Given the description of an element on the screen output the (x, y) to click on. 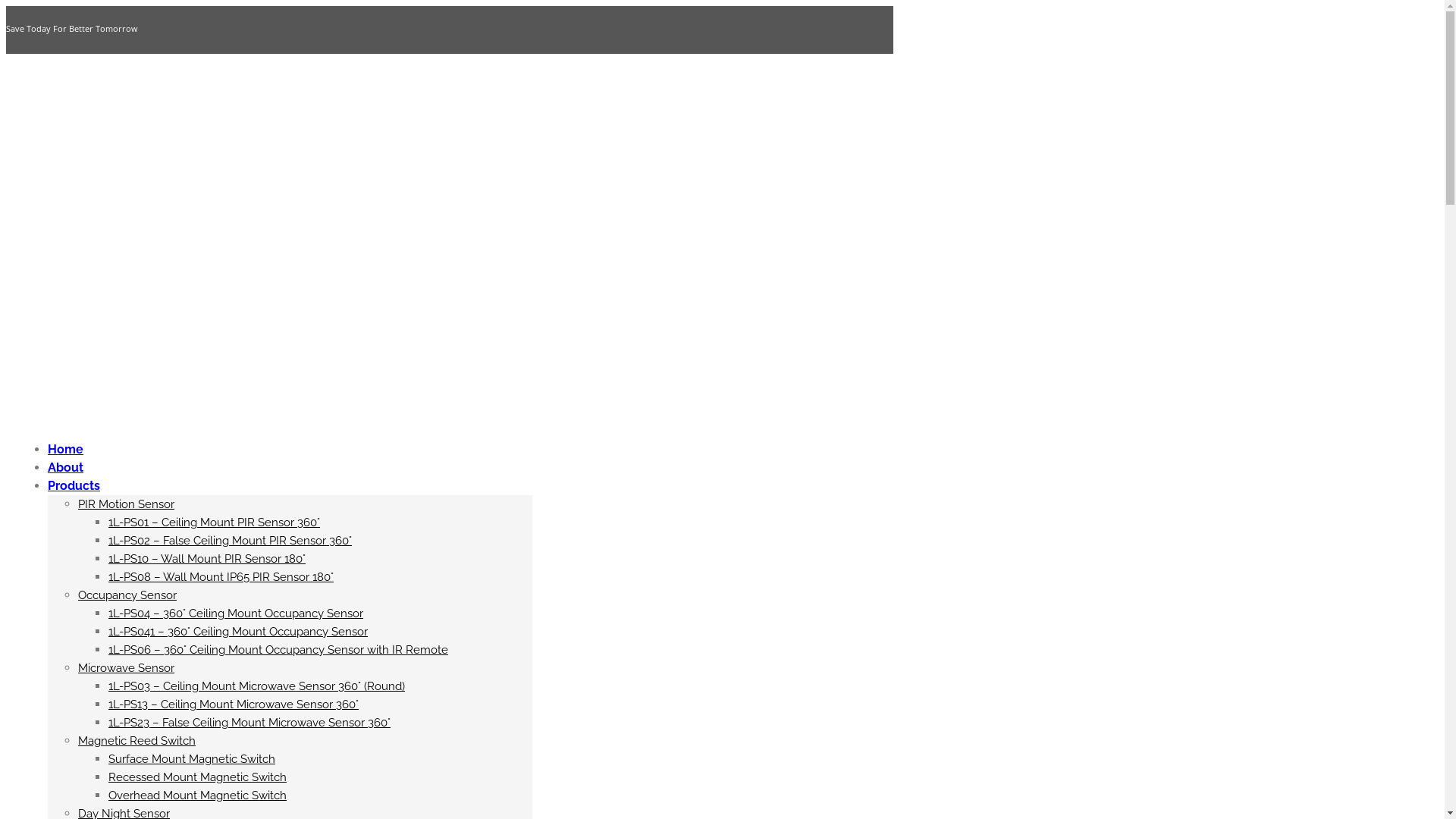
About Element type: text (65, 467)
Microwave Sensor Element type: text (126, 667)
Surface Mount Magnetic Switch Element type: text (191, 758)
PIR Motion Sensor Element type: text (126, 504)
Magnetic Reed Switch Element type: text (136, 740)
Products Element type: text (73, 485)
Recessed Mount Magnetic Switch Element type: text (197, 777)
Overhead Mount Magnetic Switch Element type: text (197, 795)
Occupancy Sensor Element type: text (127, 595)
Home Element type: text (65, 449)
